Given the description of an element on the screen output the (x, y) to click on. 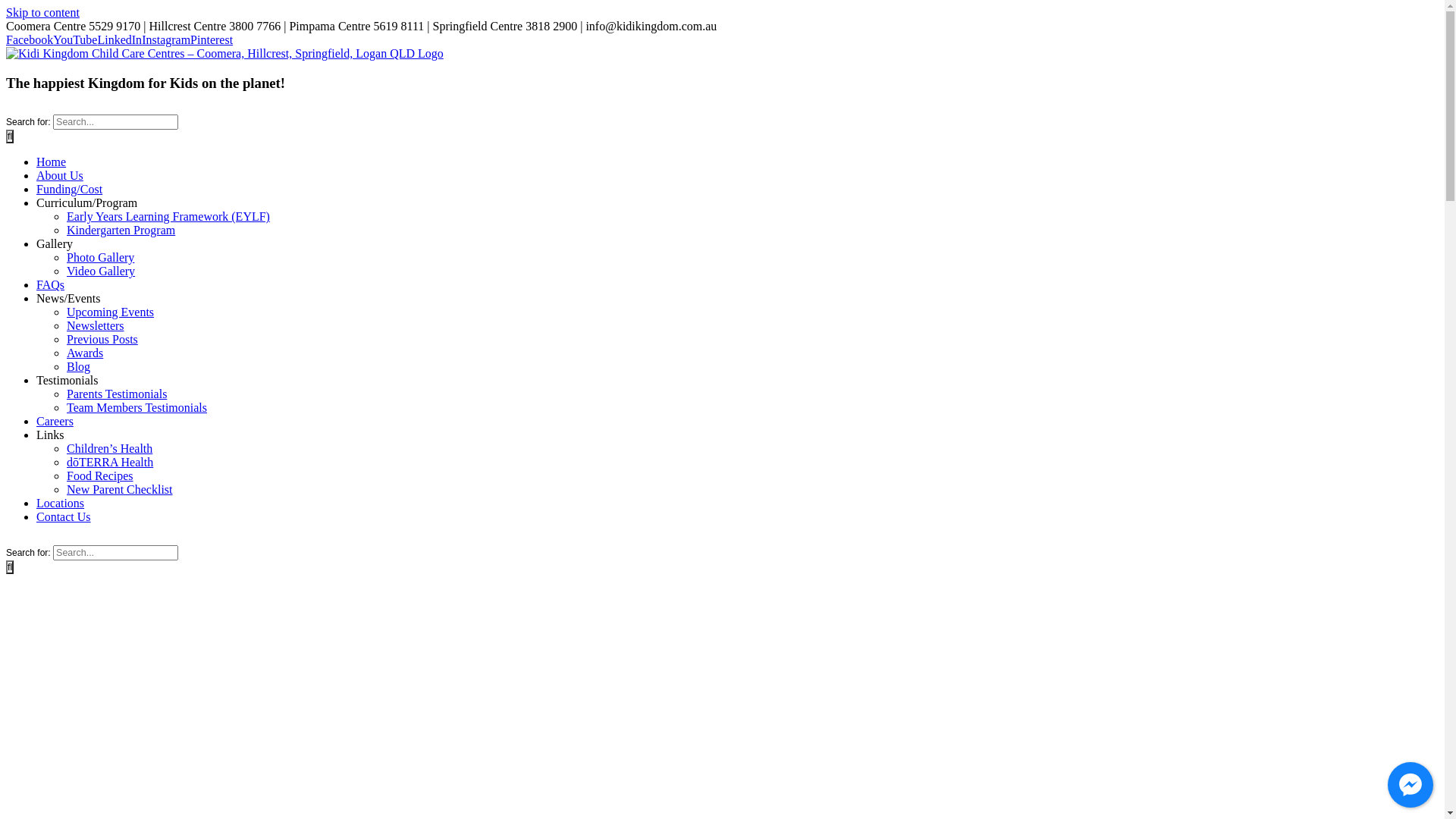
Contact Us Element type: text (63, 516)
Food Recipes Element type: text (99, 475)
Home Element type: text (50, 161)
Parents Testimonials Element type: text (116, 393)
Links Element type: text (49, 434)
Blog Element type: text (78, 366)
Funding/Cost Element type: text (69, 188)
Upcoming Events Element type: text (109, 311)
Testimonials Element type: text (67, 379)
Video Gallery Element type: text (100, 270)
Photo Gallery Element type: text (100, 257)
Gallery Element type: text (54, 243)
Facebook Element type: text (29, 39)
Early Years Learning Framework (EYLF) Element type: text (167, 216)
Team Members Testimonials Element type: text (136, 407)
Instagram Element type: text (165, 39)
New Parent Checklist Element type: text (119, 489)
Skip to content Element type: text (42, 12)
Curriculum/Program Element type: text (86, 202)
Kindergarten Program Element type: text (120, 229)
News/Events Element type: text (68, 297)
LinkedIn Element type: text (119, 39)
Locations Element type: text (60, 502)
About Us Element type: text (59, 175)
Careers Element type: text (54, 420)
YouTube Element type: text (75, 39)
Newsletters Element type: text (95, 325)
Awards Element type: text (84, 352)
Previous Posts Element type: text (102, 338)
Pinterest Element type: text (211, 39)
FAQs Element type: text (50, 284)
